Given the description of an element on the screen output the (x, y) to click on. 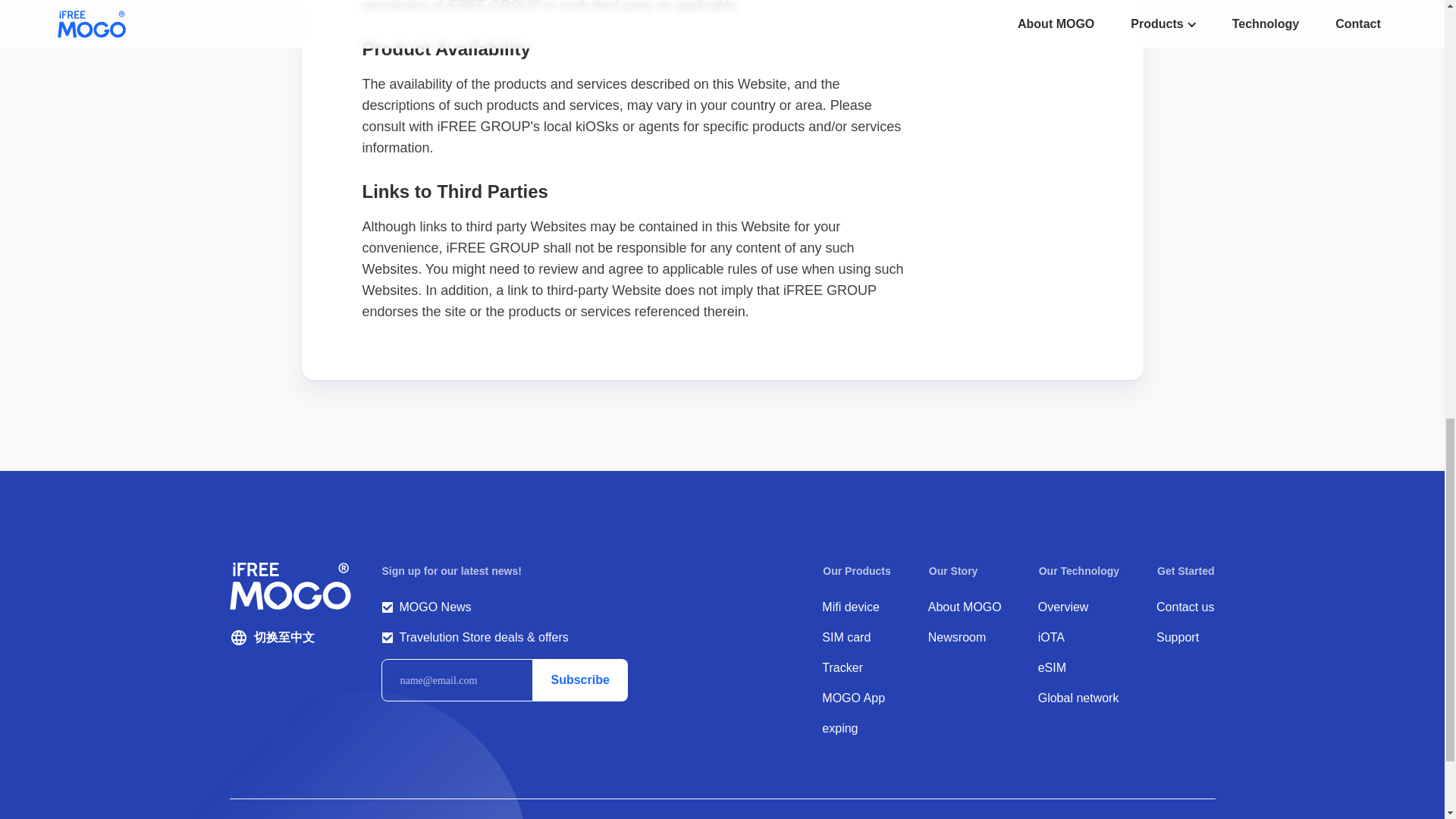
Support (1185, 637)
eSIM (1078, 668)
exping (856, 728)
MOGO App (856, 698)
Mifi device (856, 607)
iOTA (1078, 637)
Subscribe (579, 680)
Tracker (856, 668)
Subscribe (579, 680)
SIM card (856, 637)
